Given the description of an element on the screen output the (x, y) to click on. 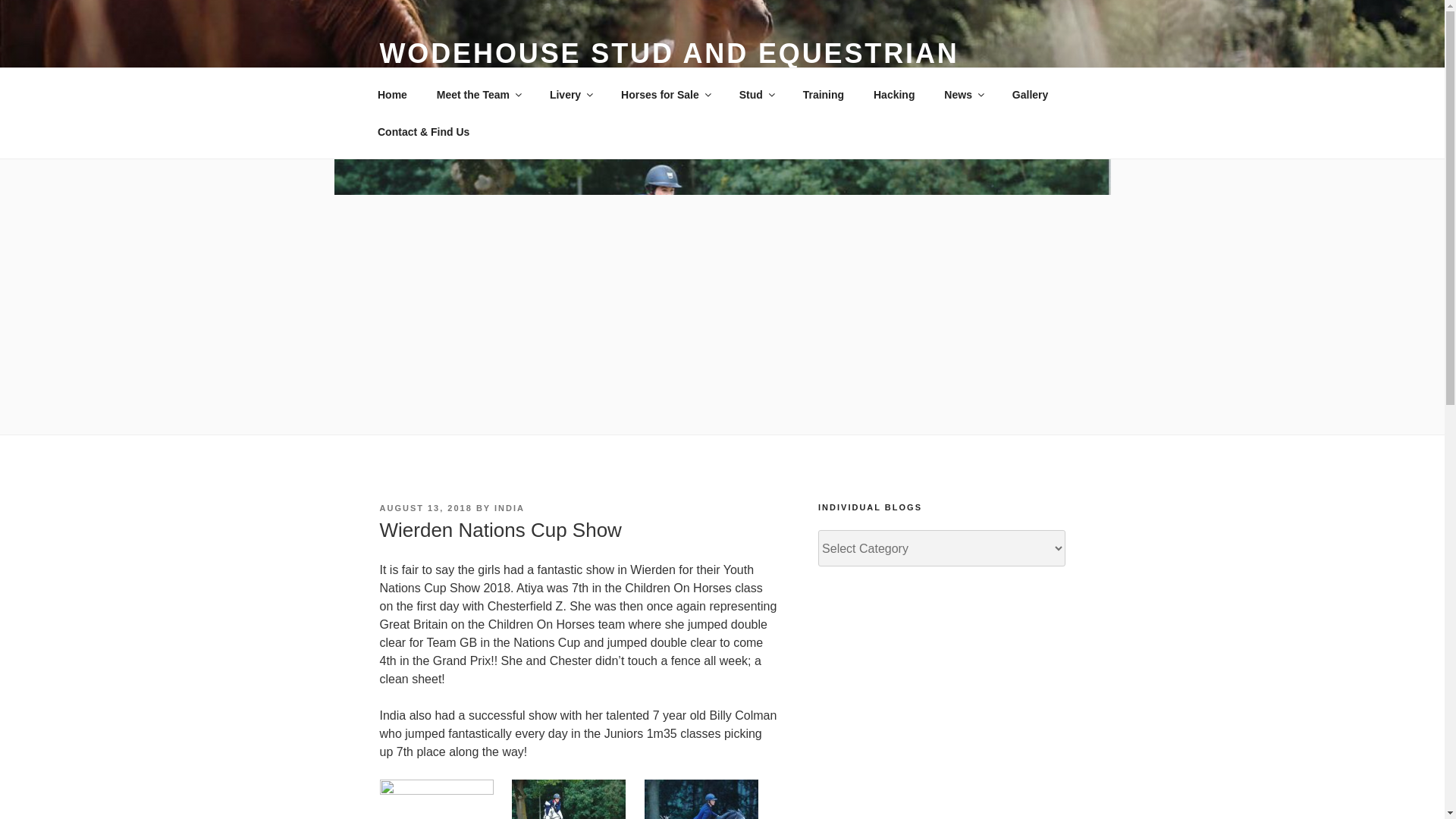
Meet the Team (477, 94)
AUGUST 13, 2018 (424, 507)
Stud (755, 94)
Hacking (893, 94)
INDIA (509, 507)
Horses for Sale (665, 94)
News (963, 94)
Gallery (1029, 94)
Livery (569, 94)
Training (823, 94)
